Given the description of an element on the screen output the (x, y) to click on. 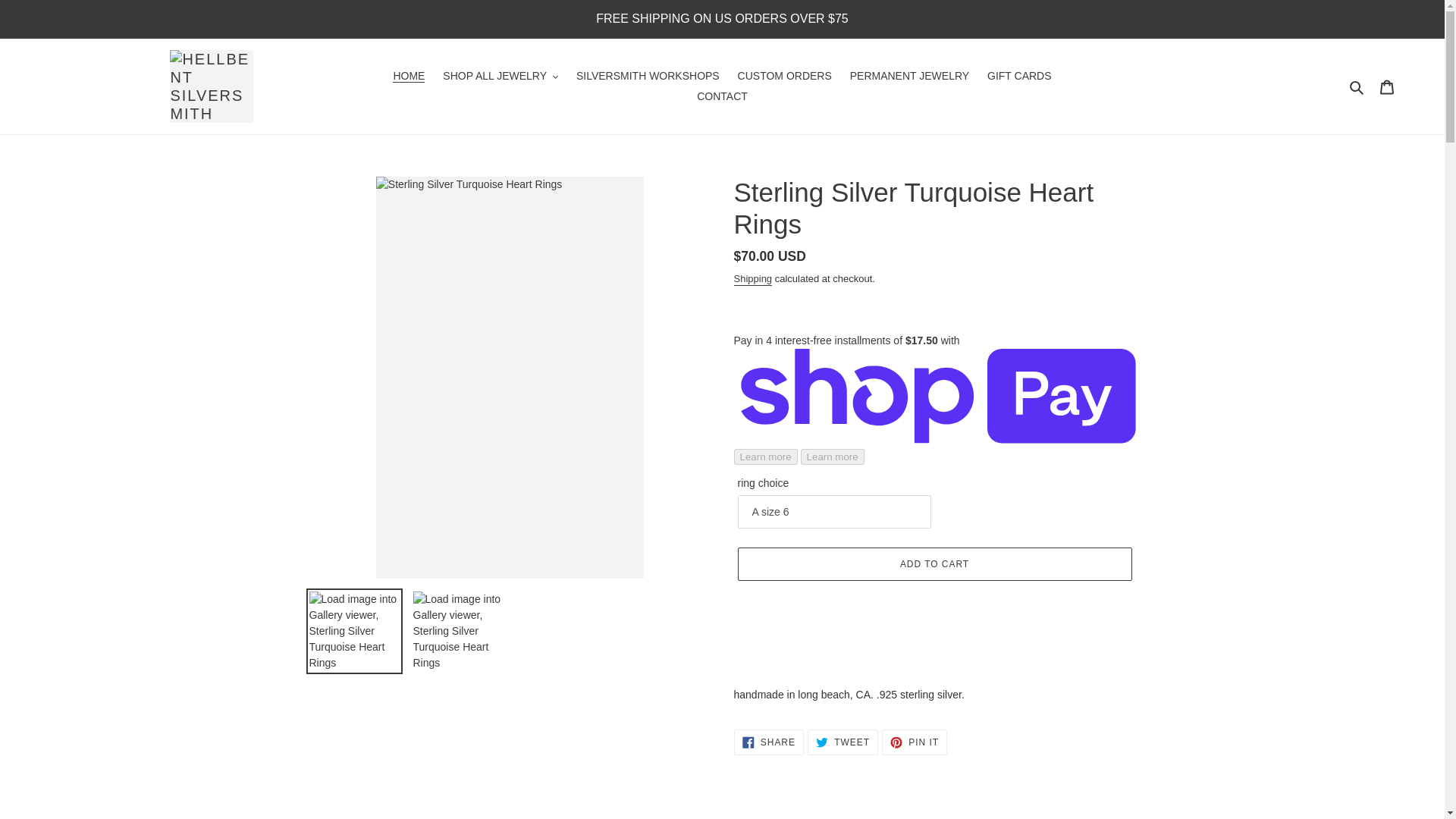
Shipping (753, 278)
CONTACT (721, 96)
Search (1357, 85)
GIFT CARDS (1019, 76)
SHOP ALL JEWELRY (500, 76)
HOME (408, 76)
ADD TO CART (933, 563)
PERMANENT JEWELRY (909, 76)
Cart (1387, 85)
SILVERSMITH WORKSHOPS (647, 76)
CUSTOM ORDERS (785, 76)
